Given the description of an element on the screen output the (x, y) to click on. 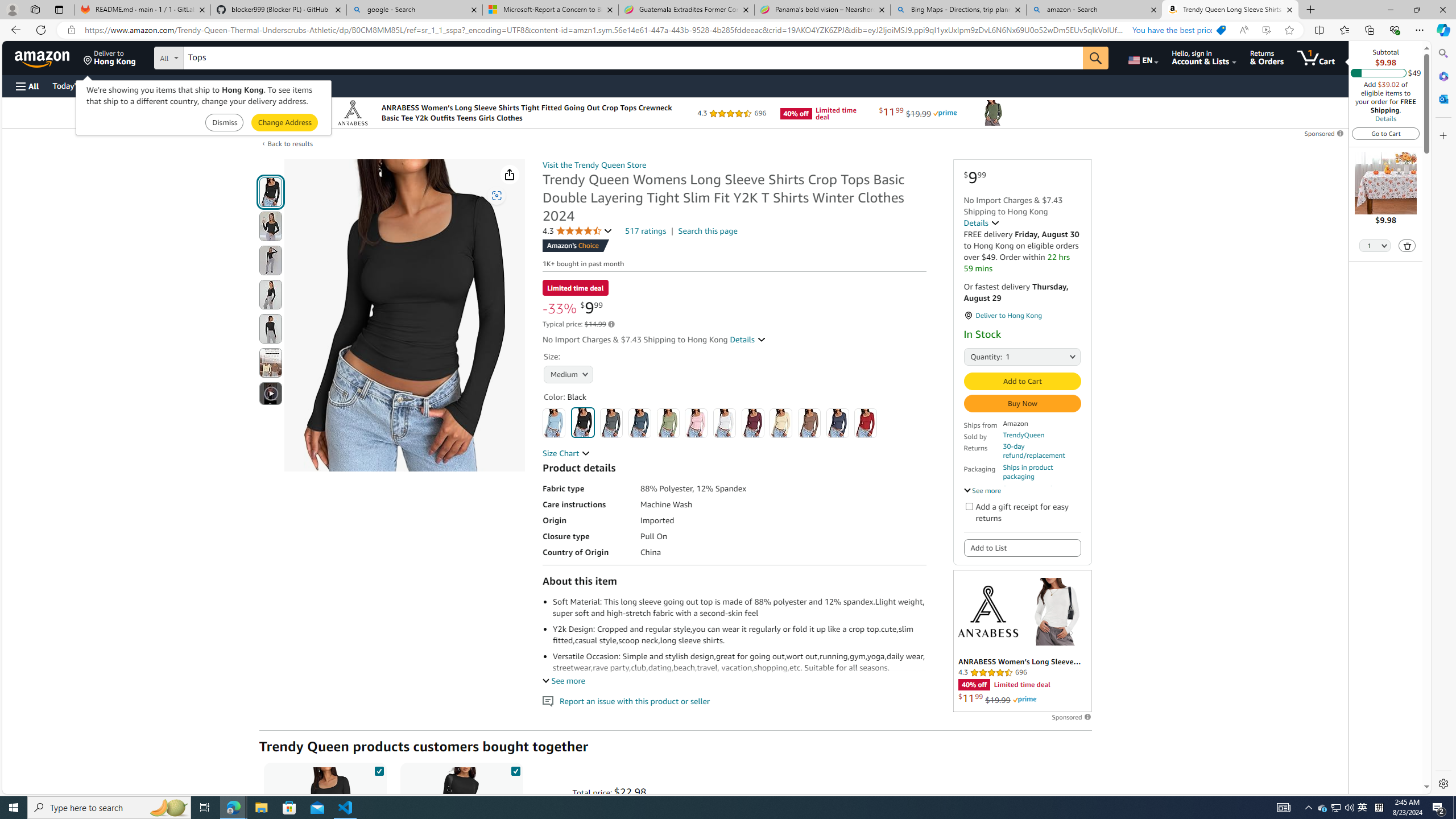
Gray (611, 422)
Delete (1407, 245)
Back to results (290, 143)
Report an issue with this product or seller (548, 701)
Haze Blue (639, 422)
Black (583, 422)
Choose a language for shopping. (1142, 57)
Wine Red (752, 422)
White (724, 422)
Hello, sign in Account & Lists (1203, 57)
